Given the description of an element on the screen output the (x, y) to click on. 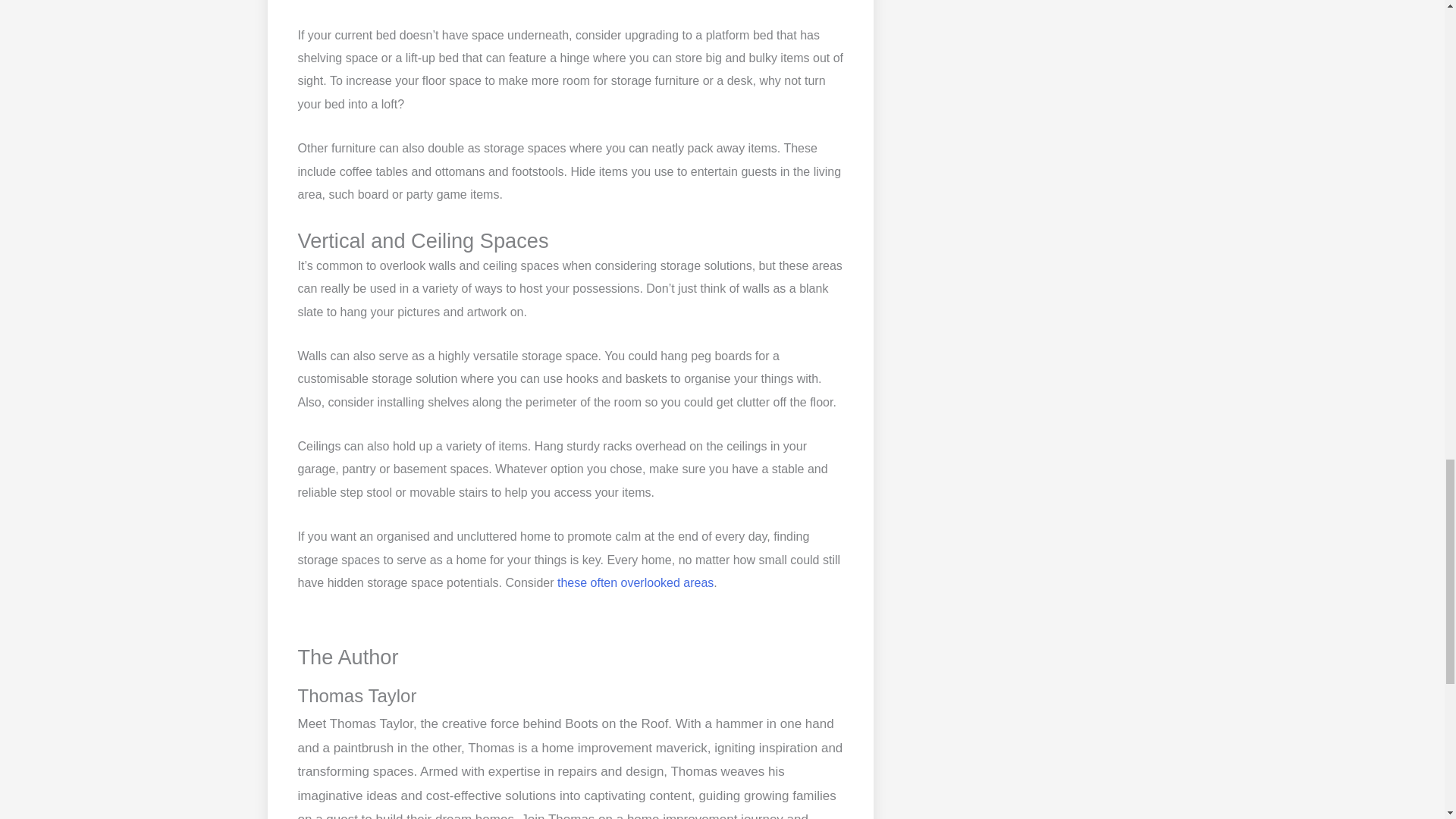
these often overlooked areas (635, 582)
Better Homes and Gardens (635, 582)
